Given the description of an element on the screen output the (x, y) to click on. 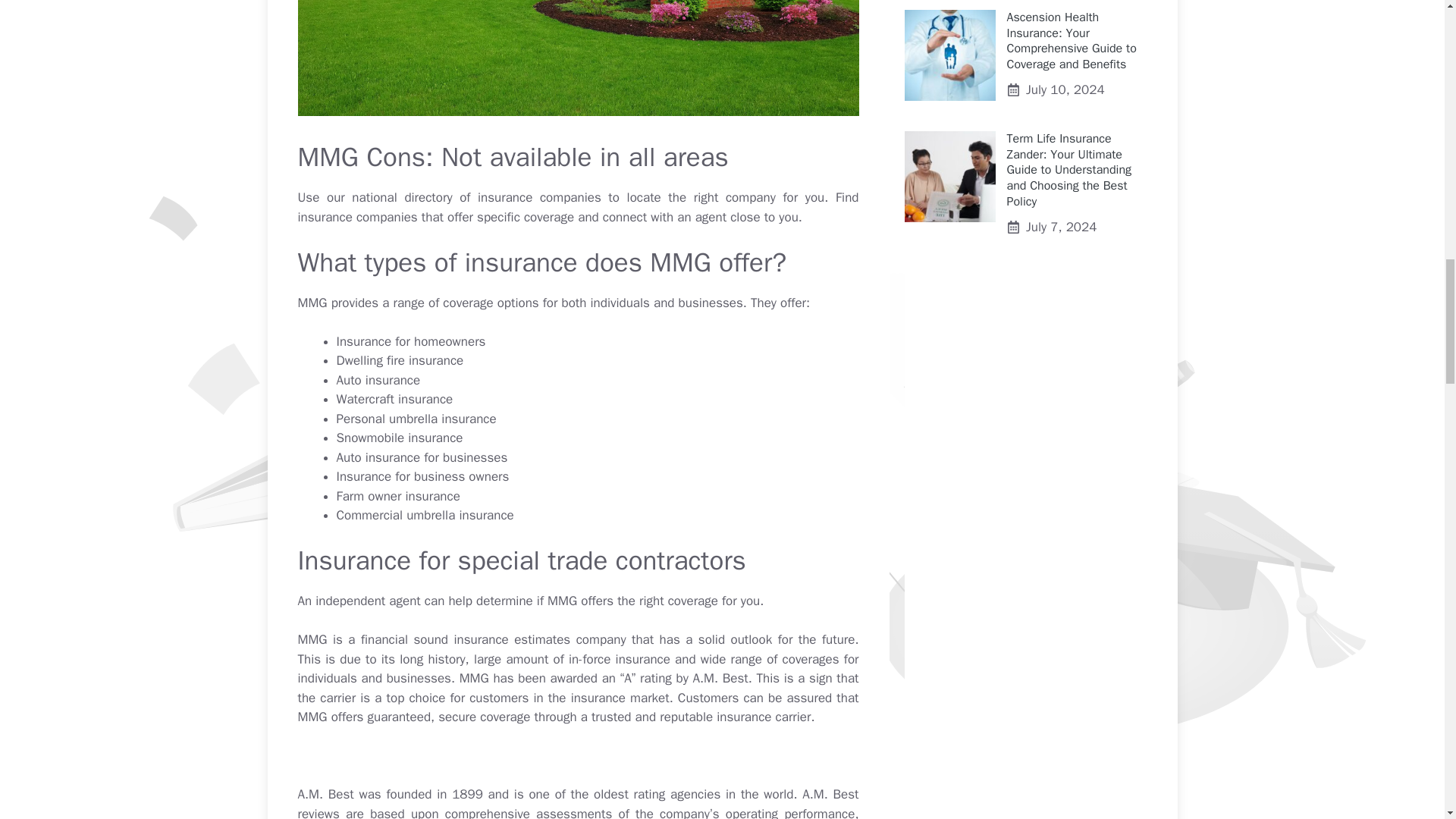
insurance estimates (509, 639)
